Given the description of an element on the screen output the (x, y) to click on. 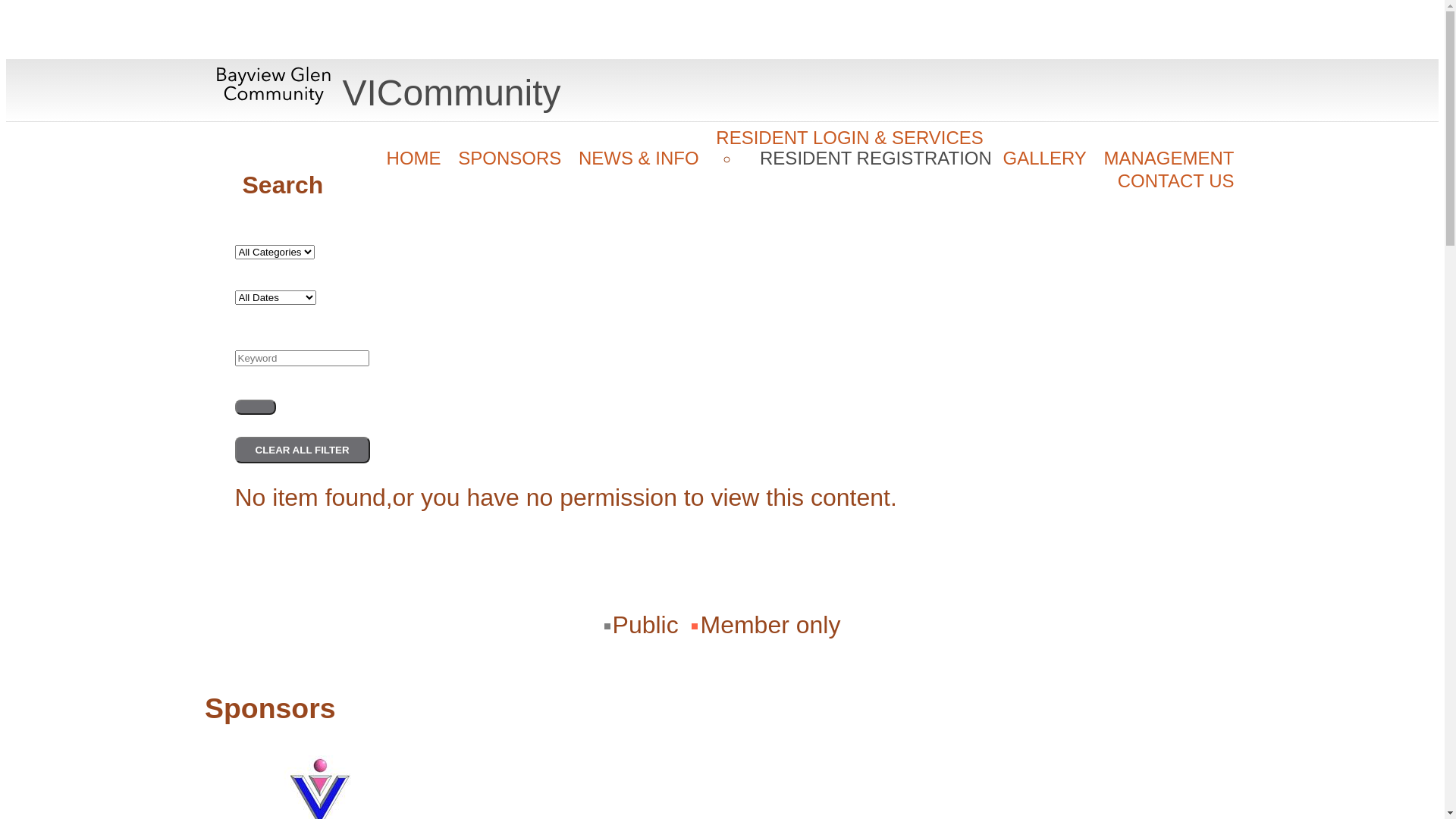
Search Element type: text (41, 13)
RESIDENT REGISTRATION Element type: text (875, 157)
HOME Element type: text (413, 158)
RESIDENT LOGIN & SERVICES Element type: text (849, 137)
SPONSORS Element type: text (509, 158)
Clear All Filter Element type: text (302, 449)
NEWS & INFO Element type: text (638, 158)
VICommunity Element type: text (387, 92)
GALLERY Element type: text (1044, 158)
CONTACT US Element type: text (1175, 180)
MANAGEMENT Element type: text (1168, 158)
